Given the description of an element on the screen output the (x, y) to click on. 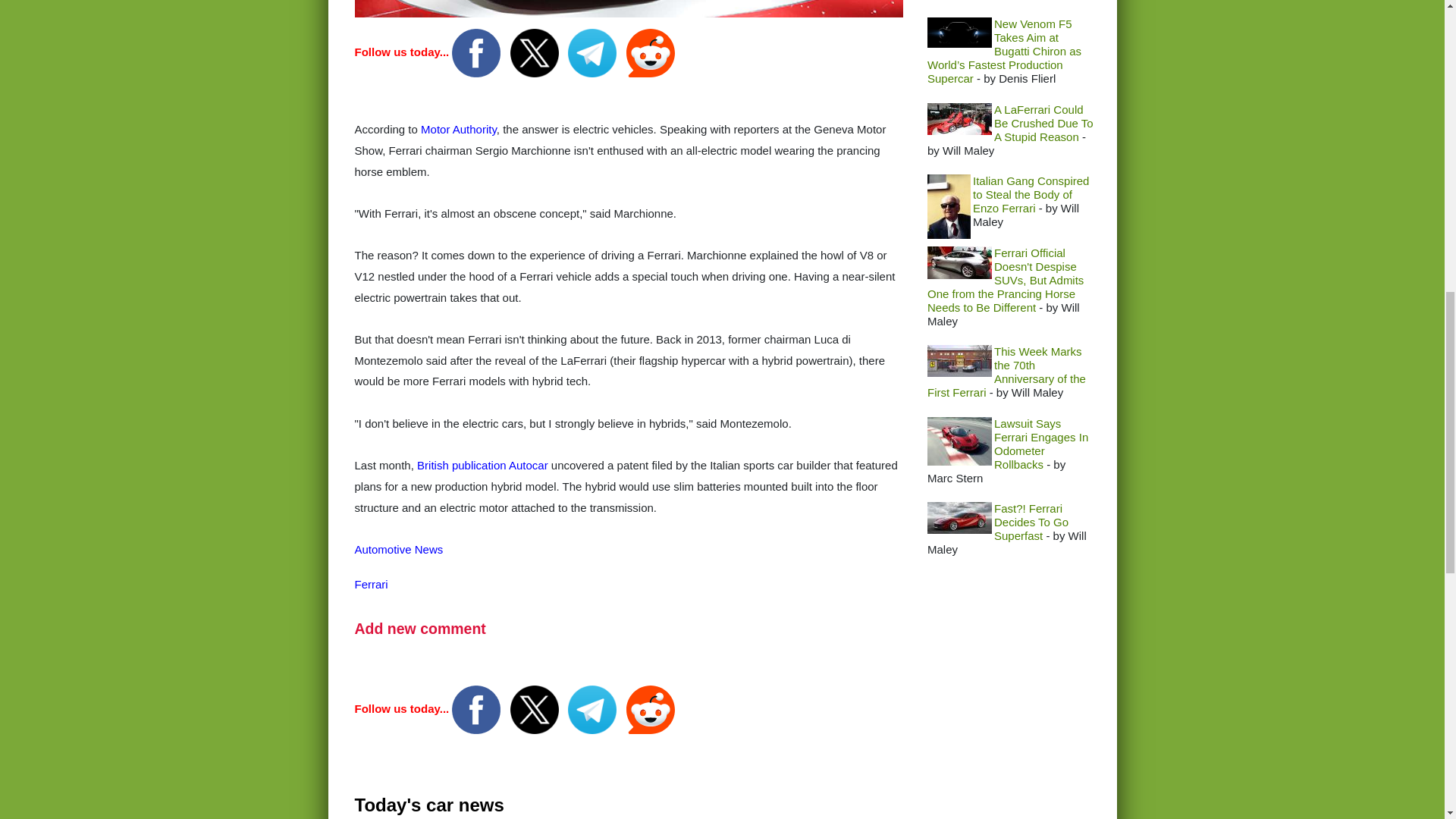
Share your thoughts and opinions. (420, 628)
British publication Autocar (482, 464)
Join us on Telegram! (593, 51)
Join us on Telegram! (593, 707)
Join us on Reddit! (650, 707)
Ferrari (371, 584)
Motor Authority (458, 128)
Automotive News (399, 549)
Add new comment (420, 628)
Join us on Reddit! (650, 51)
